Given the description of an element on the screen output the (x, y) to click on. 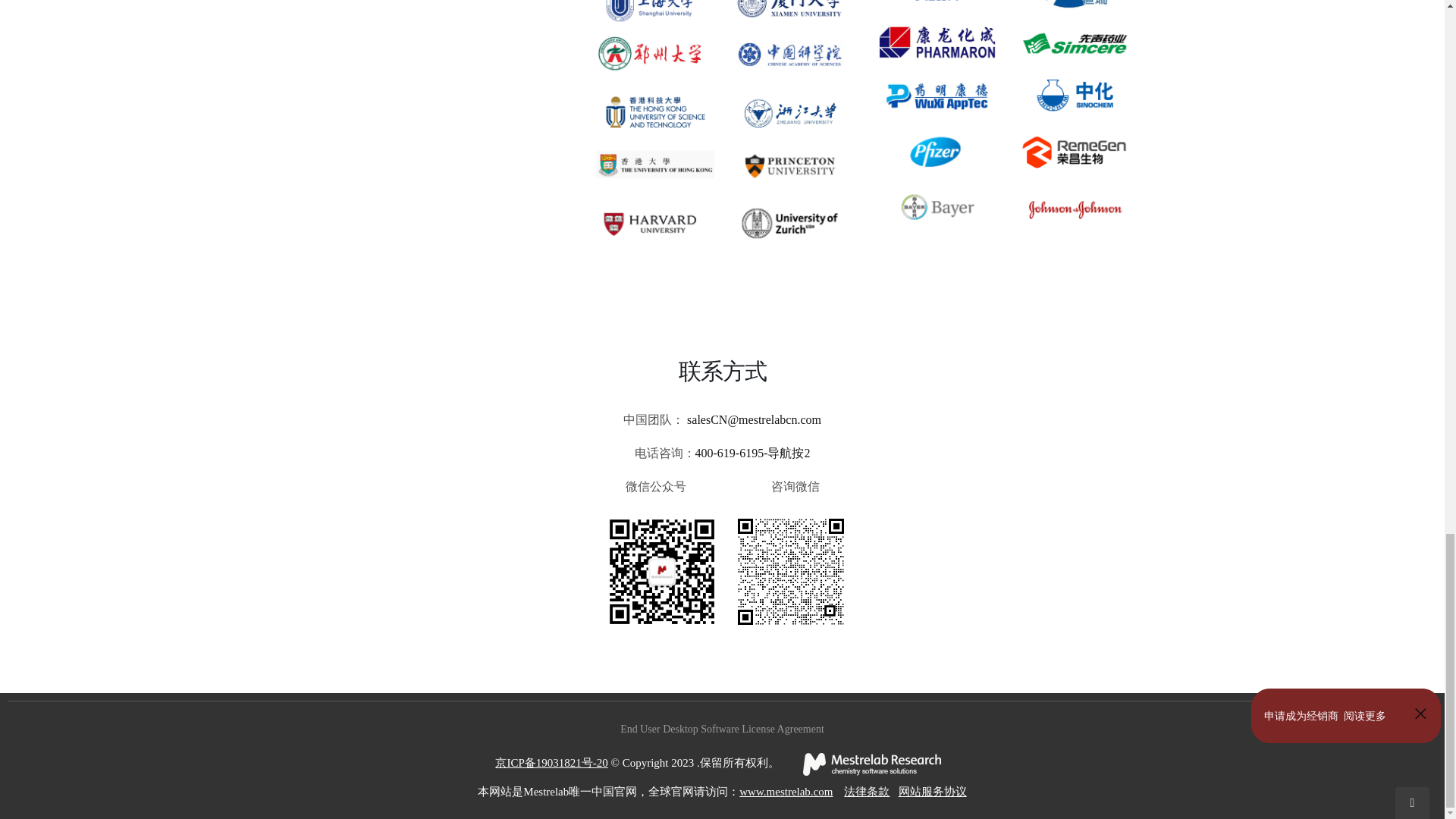
www.mestrelab.com (785, 791)
End User Desktop Software License Agreement (722, 728)
